Given the description of an element on the screen output the (x, y) to click on. 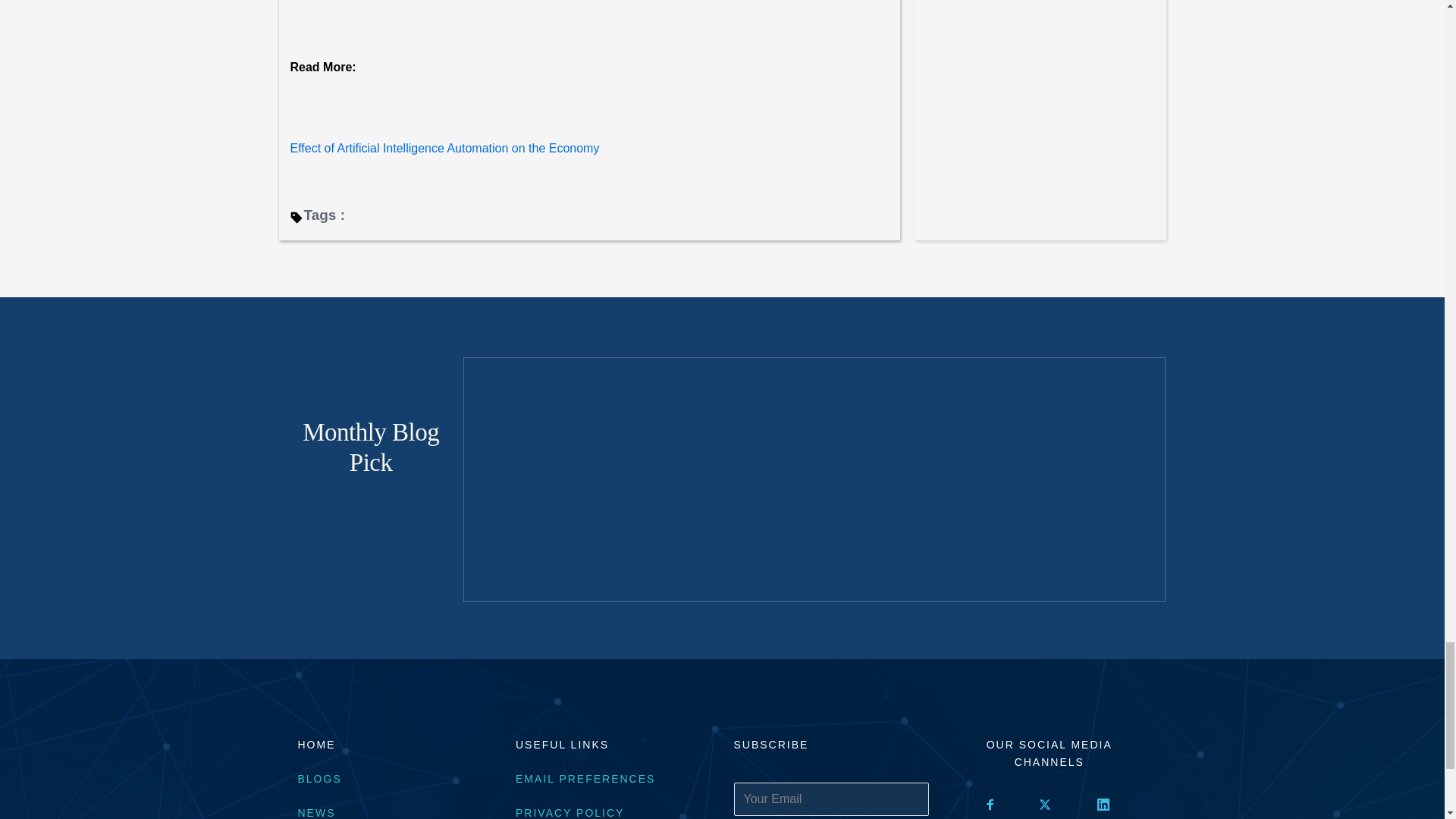
Effect of Artificial Intelligence Automation on the Economy (443, 147)
